Given the description of an element on the screen output the (x, y) to click on. 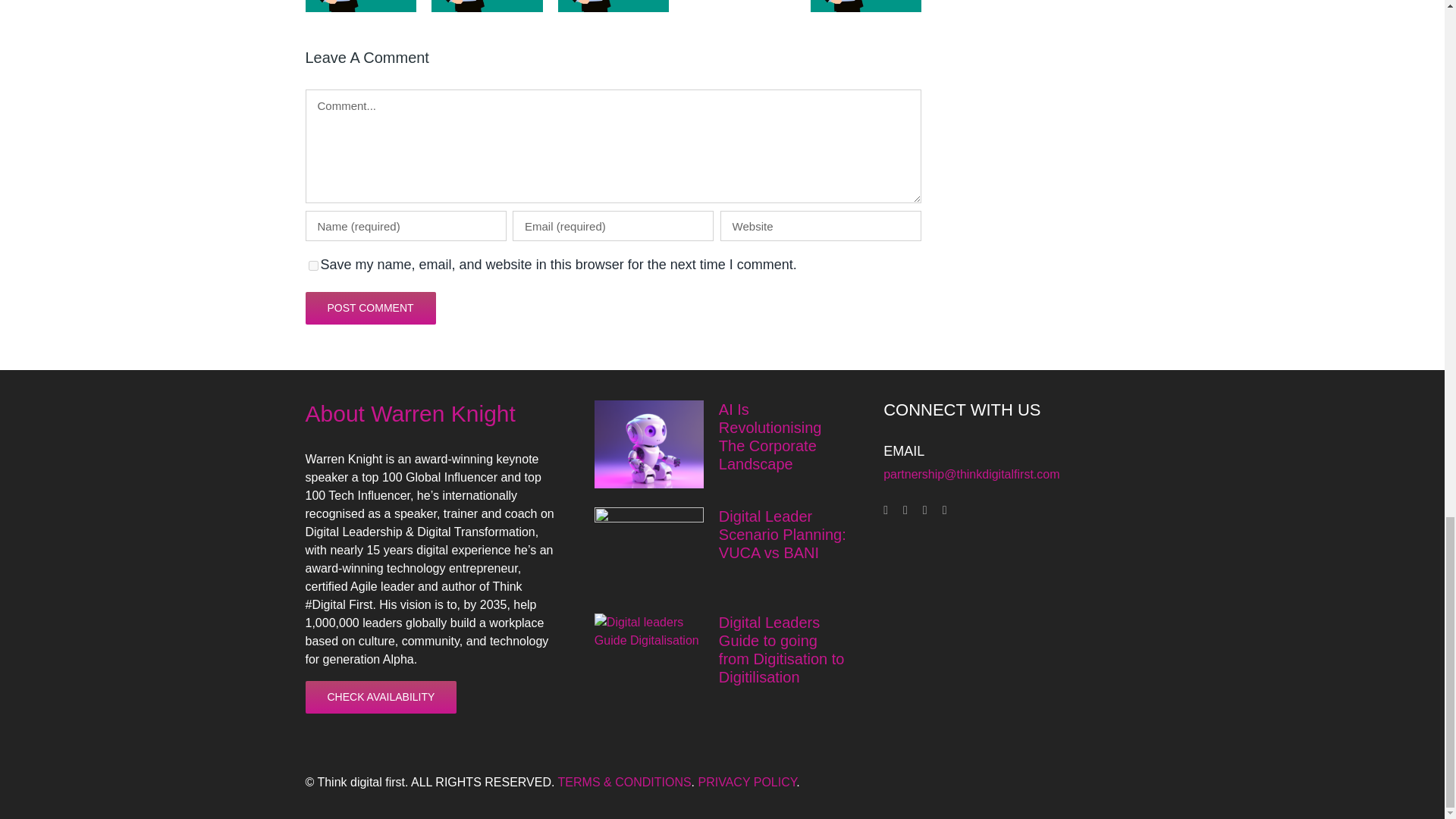
Post Comment (369, 307)
yes (312, 266)
Post Comment (369, 307)
